Given the description of an element on the screen output the (x, y) to click on. 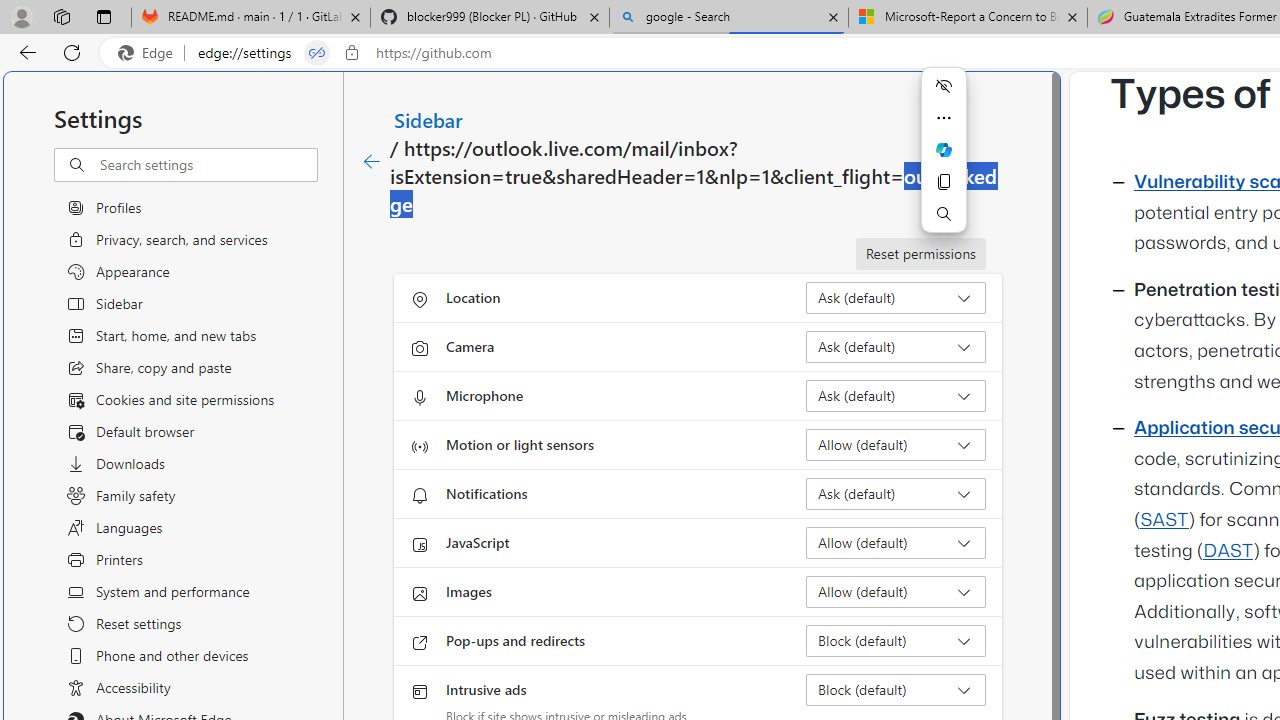
google - Search (729, 17)
Pop-ups and redirects Block (default) (895, 640)
More actions (943, 117)
